Given the description of an element on the screen output the (x, y) to click on. 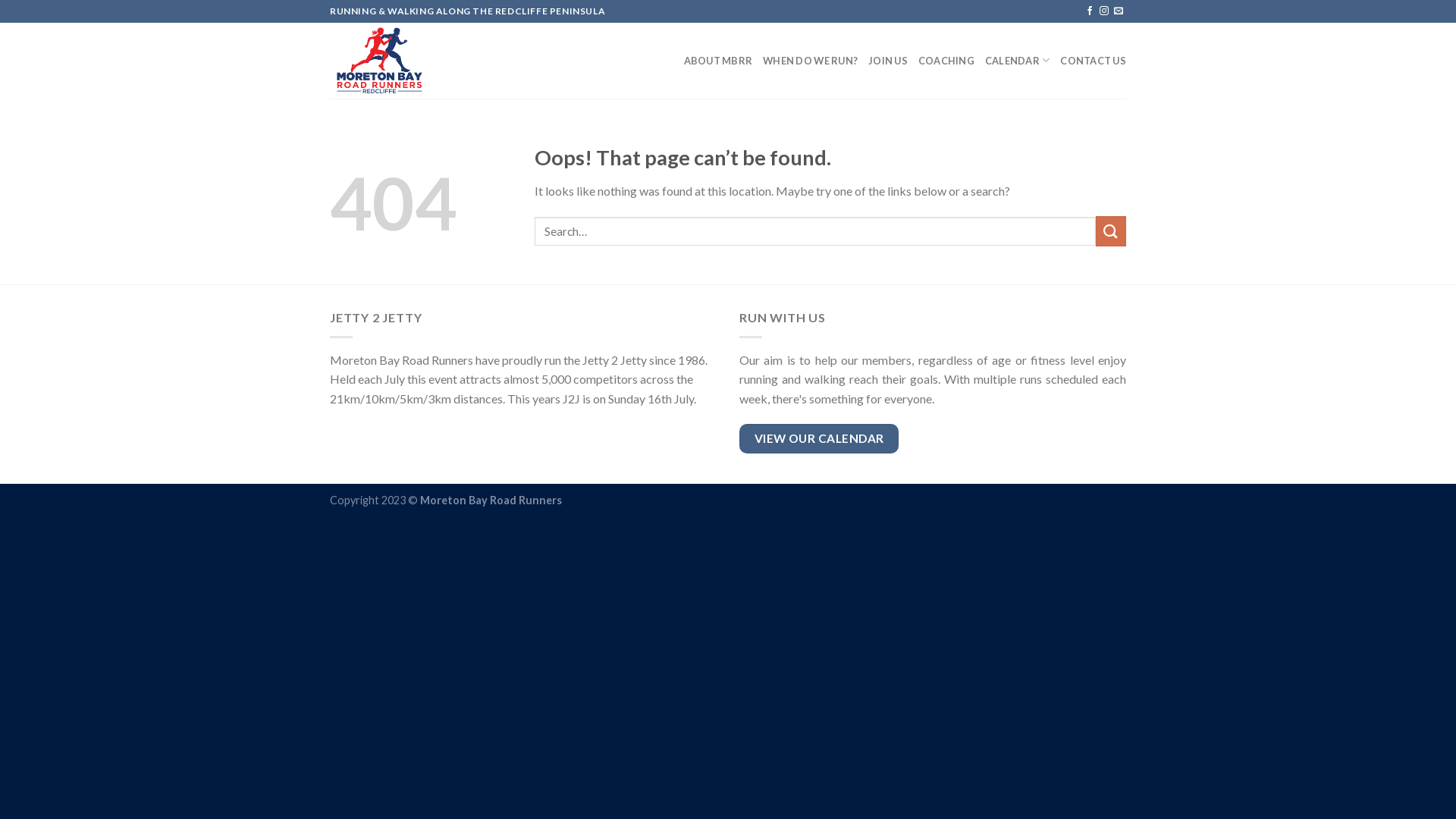
CONTACT US Element type: text (1093, 60)
JOIN US Element type: text (887, 60)
Follow on Instagram Element type: hover (1103, 11)
VIEW OUR CALENDAR Element type: text (818, 438)
WHEN DO WE RUN? Element type: text (809, 60)
Moreton Bay Road Runners Element type: hover (405, 60)
CALENDAR Element type: text (1017, 60)
ABOUT MBRR Element type: text (718, 60)
Follow on Facebook Element type: hover (1089, 11)
COACHING Element type: text (946, 60)
Send us an email Element type: hover (1118, 11)
